Given the description of an element on the screen output the (x, y) to click on. 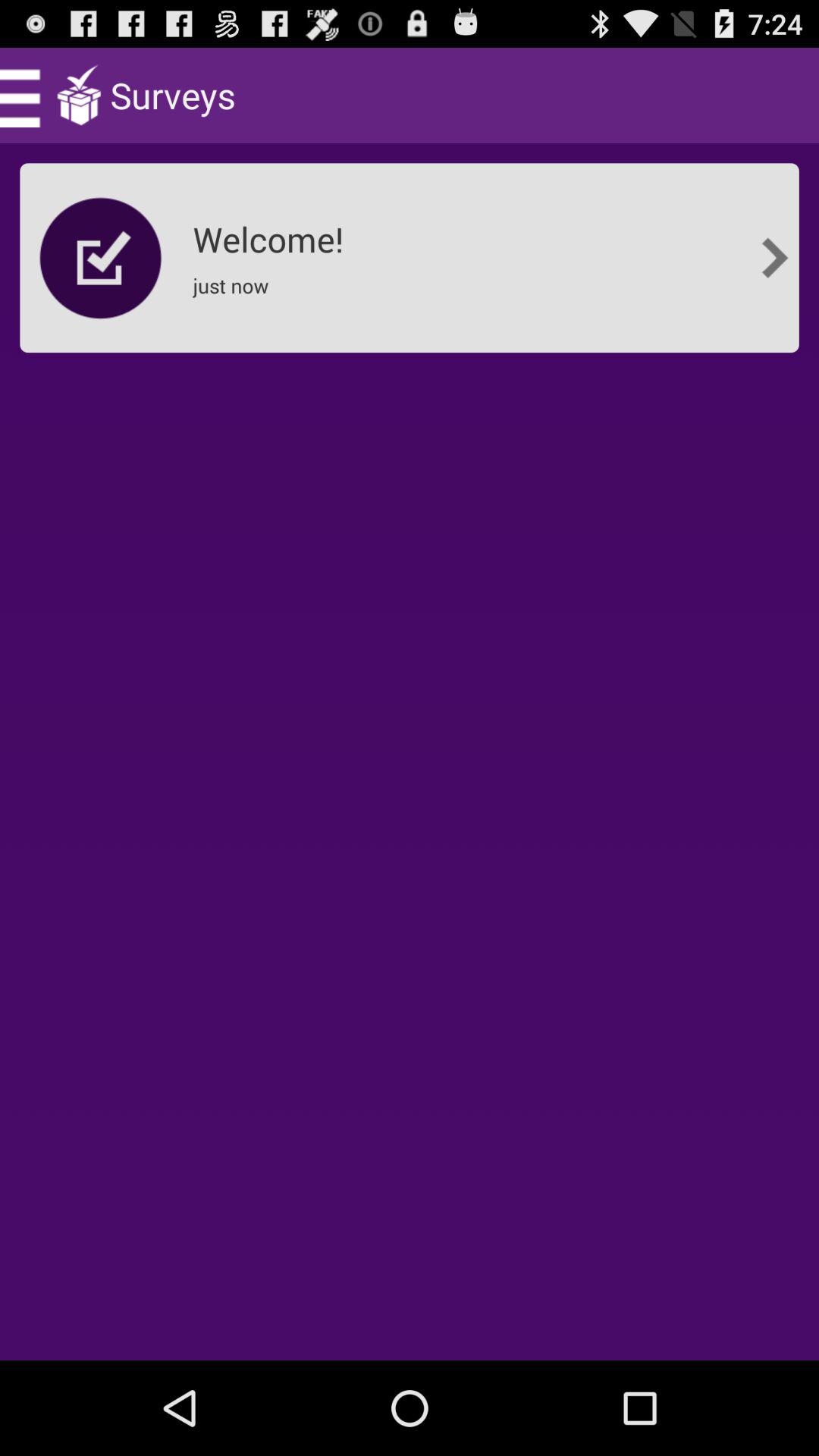
turn on item above just now icon (272, 234)
